Given the description of an element on the screen output the (x, y) to click on. 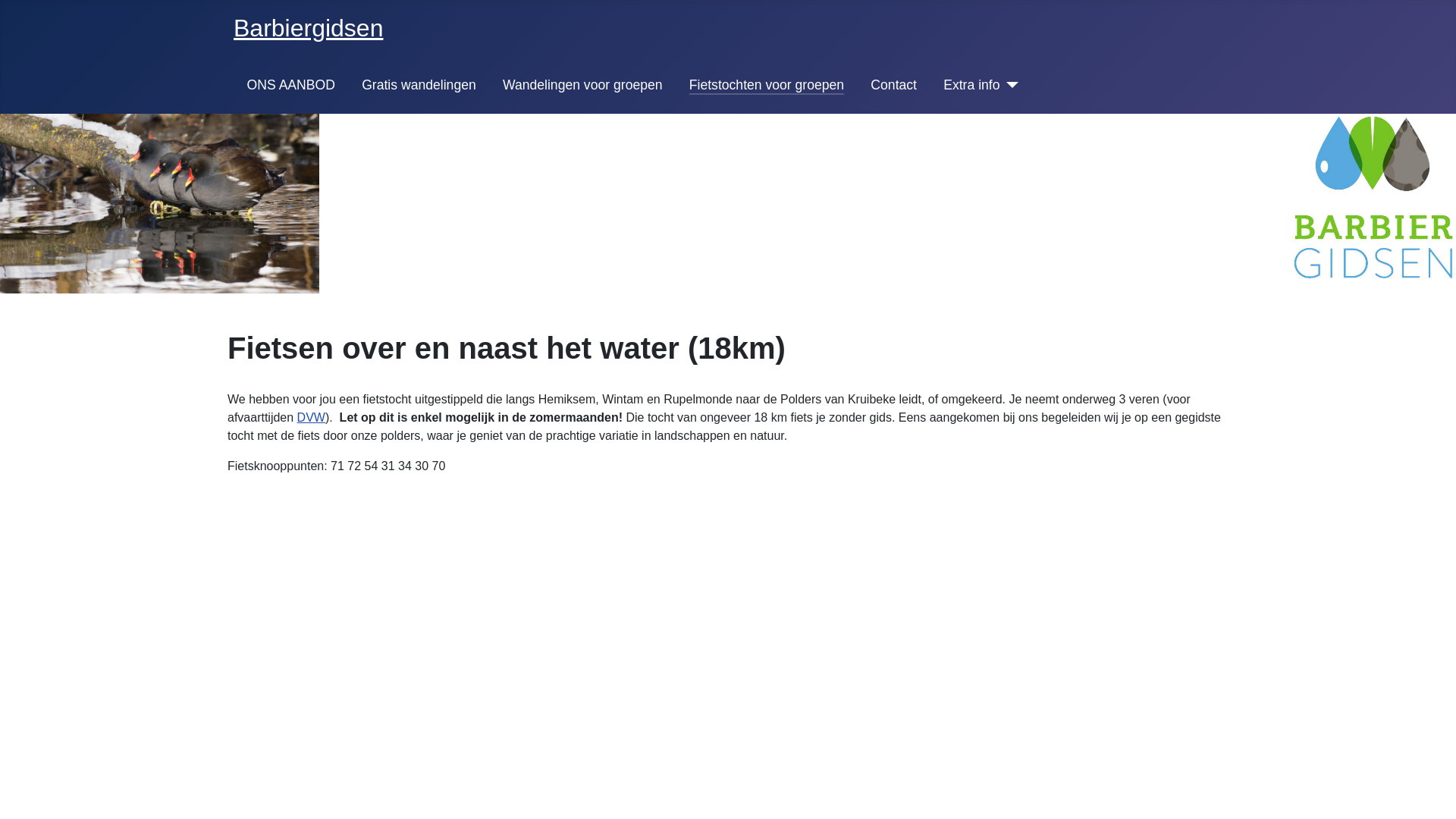
Contact Element type: text (893, 84)
Wandelingen voor groepen Element type: text (582, 84)
Extra info Element type: text (971, 84)
ONS AANBOD Element type: text (291, 84)
DVW Element type: text (311, 417)
Barbiergidsen Element type: text (307, 27)
Fietstochten voor groepen Element type: text (766, 84)
Gratis wandelingen Element type: text (418, 84)
